Given the description of an element on the screen output the (x, y) to click on. 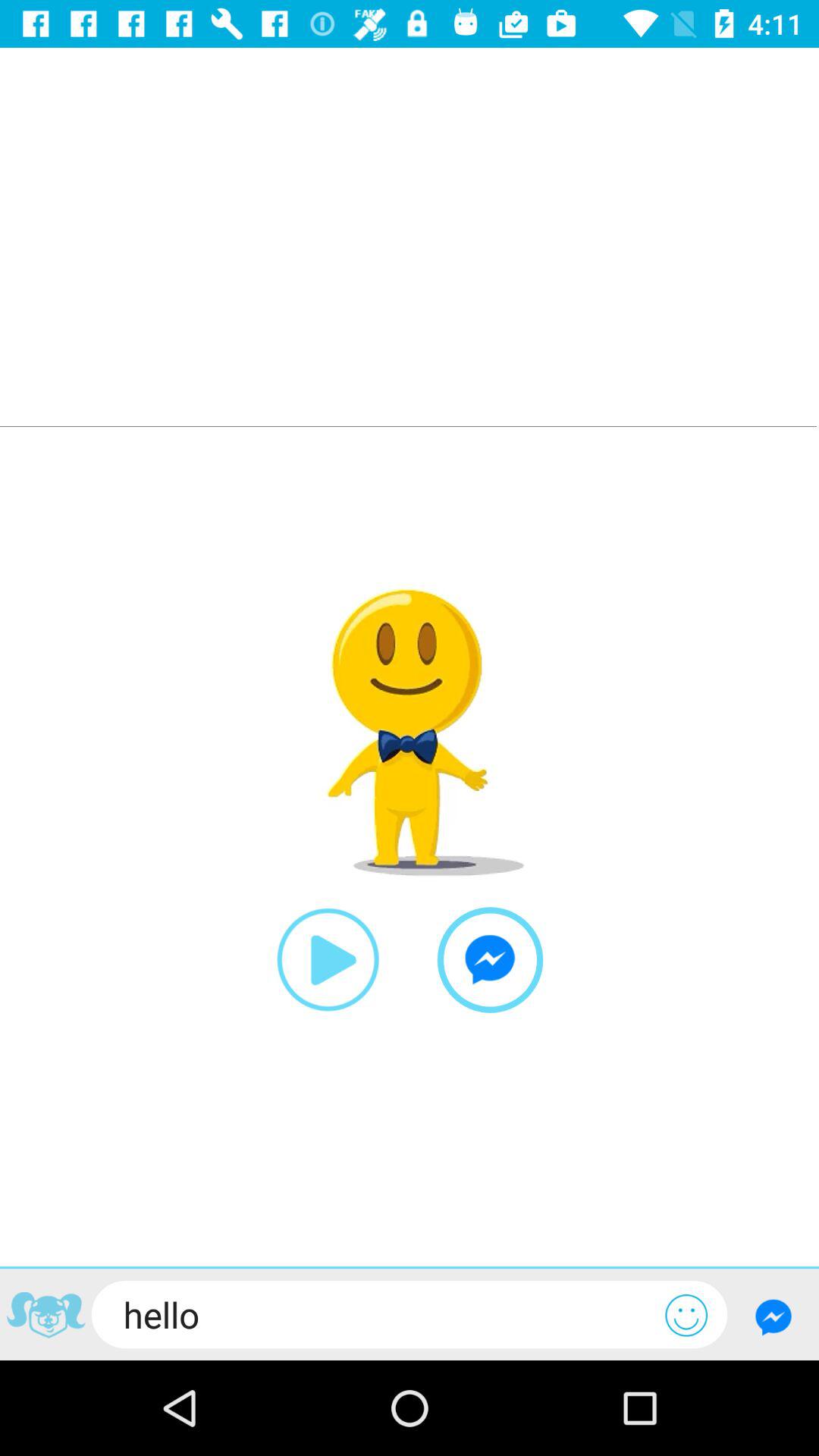
image page (45, 1317)
